Given the description of an element on the screen output the (x, y) to click on. 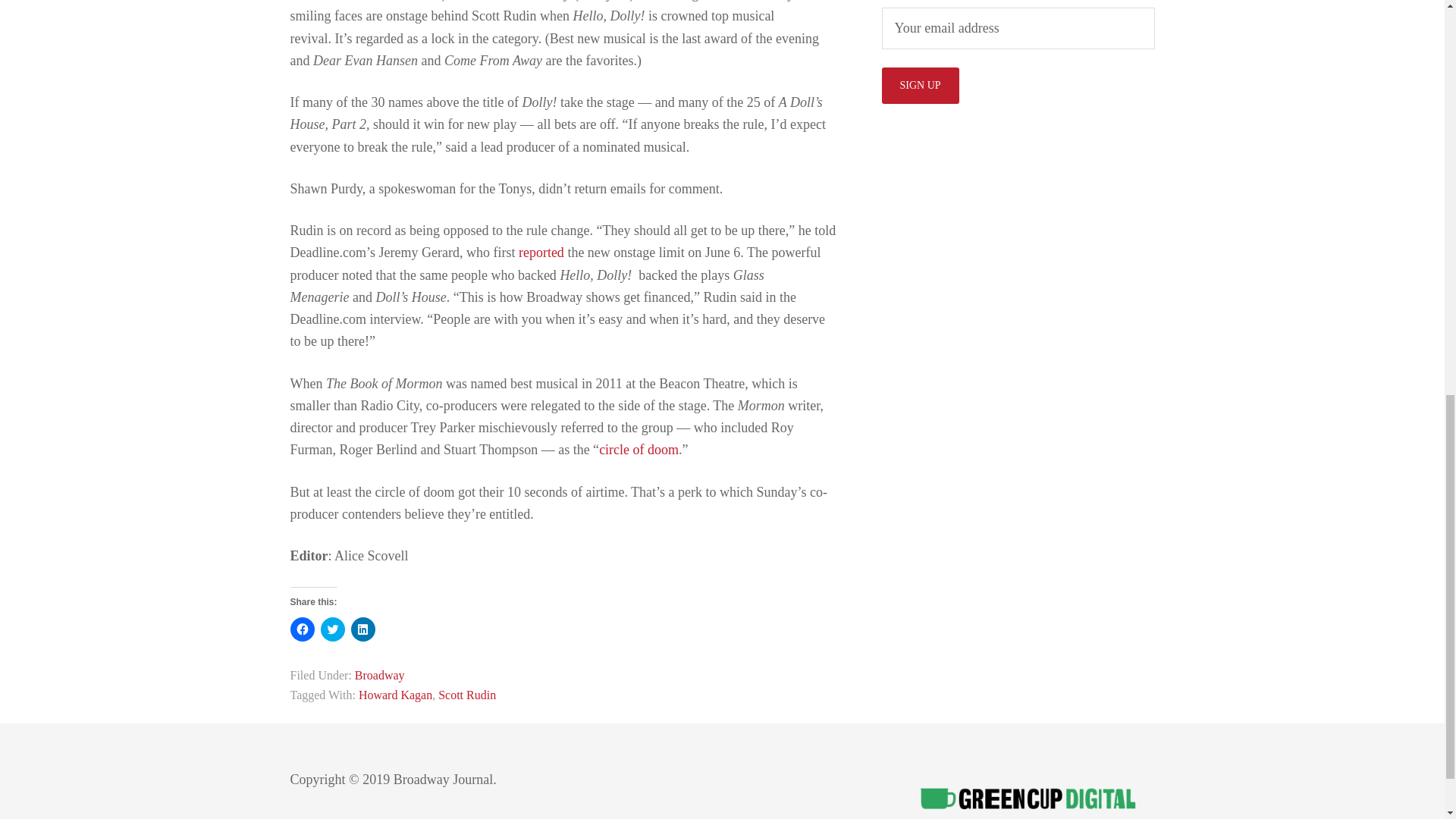
Howard Kagan (395, 694)
Scott Rudin (467, 694)
reported (541, 252)
Click to share on Facebook (301, 629)
Broadway (379, 675)
Click to share on Twitter (331, 629)
circle of doom (638, 449)
Click to share on LinkedIn (362, 629)
Sign up (919, 85)
Sign up (919, 85)
